Given the description of an element on the screen output the (x, y) to click on. 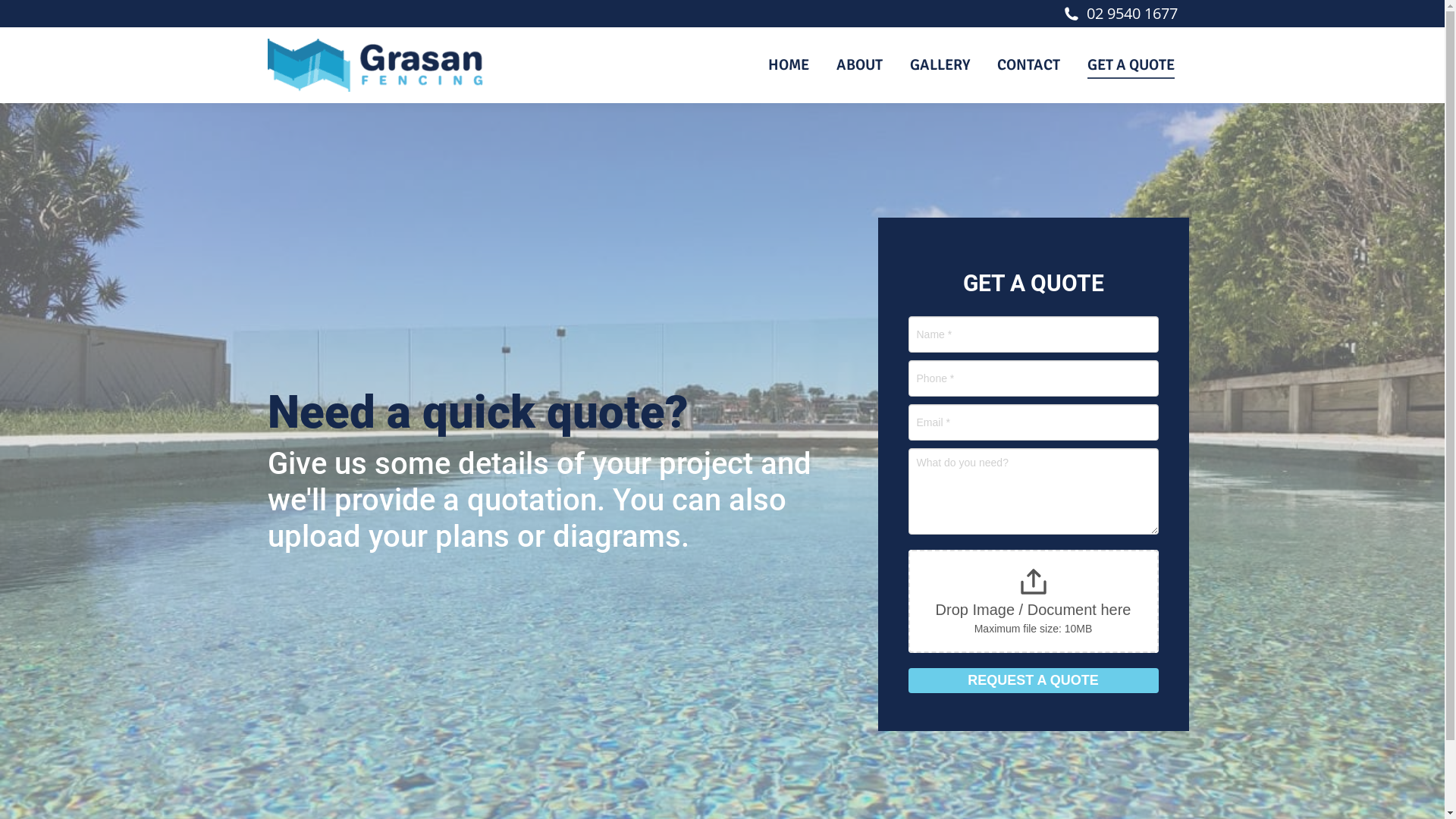
Drop Image / Document here Element type: text (1033, 610)
ABOUT Element type: text (858, 64)
GALLERY Element type: text (939, 64)
CONTACT Element type: text (1027, 64)
GET A QUOTE Element type: text (1130, 64)
HOME Element type: text (787, 64)
02 9540 1677 Element type: text (1131, 13)
REQUEST A QUOTE Element type: text (1033, 680)
